Given the description of an element on the screen output the (x, y) to click on. 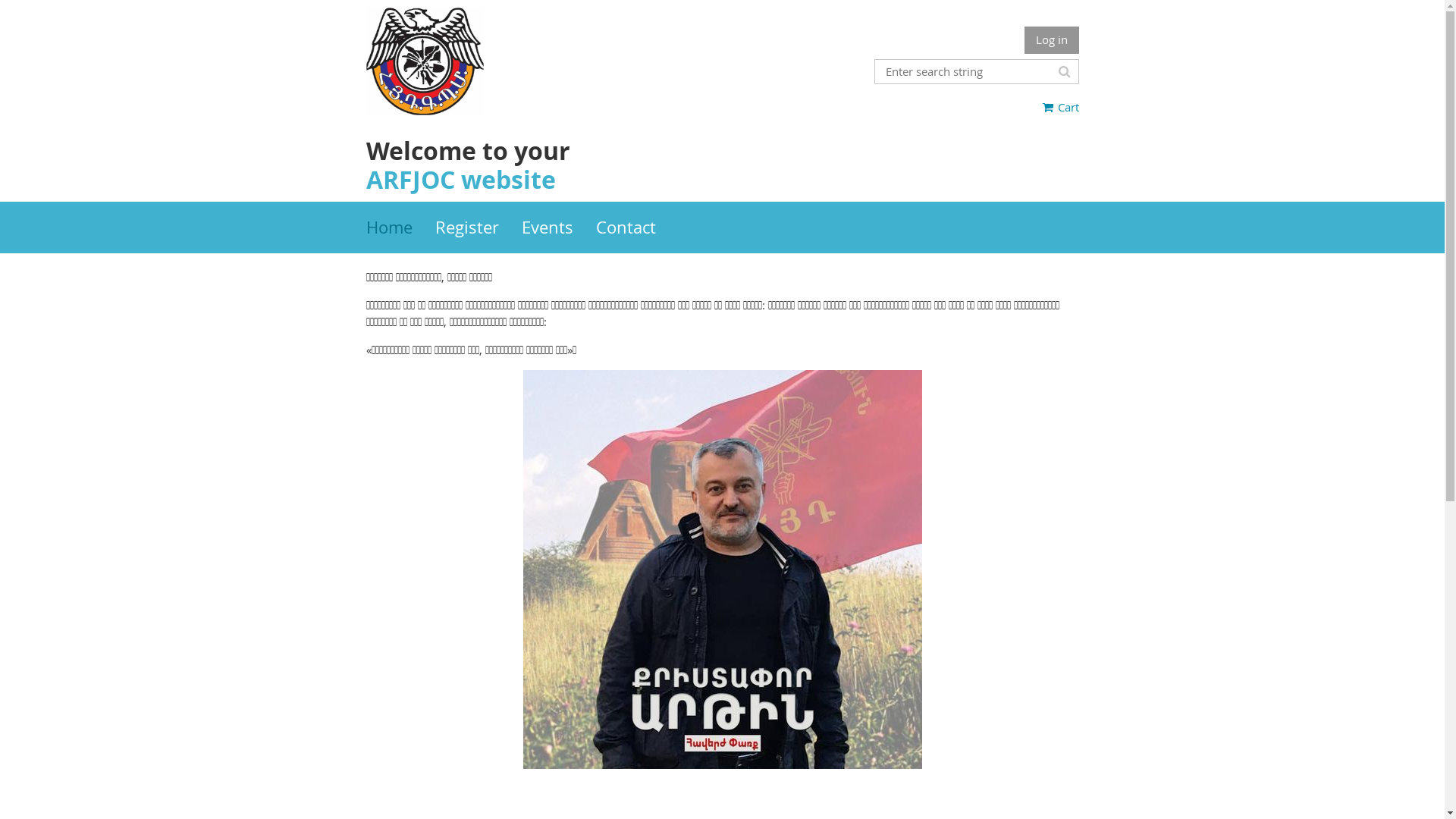
Events Element type: text (558, 227)
Cart Element type: text (1060, 106)
Contact Element type: text (637, 227)
Register Element type: text (478, 227)
Home Element type: text (399, 227)
Log in Element type: text (1050, 39)
